Given the description of an element on the screen output the (x, y) to click on. 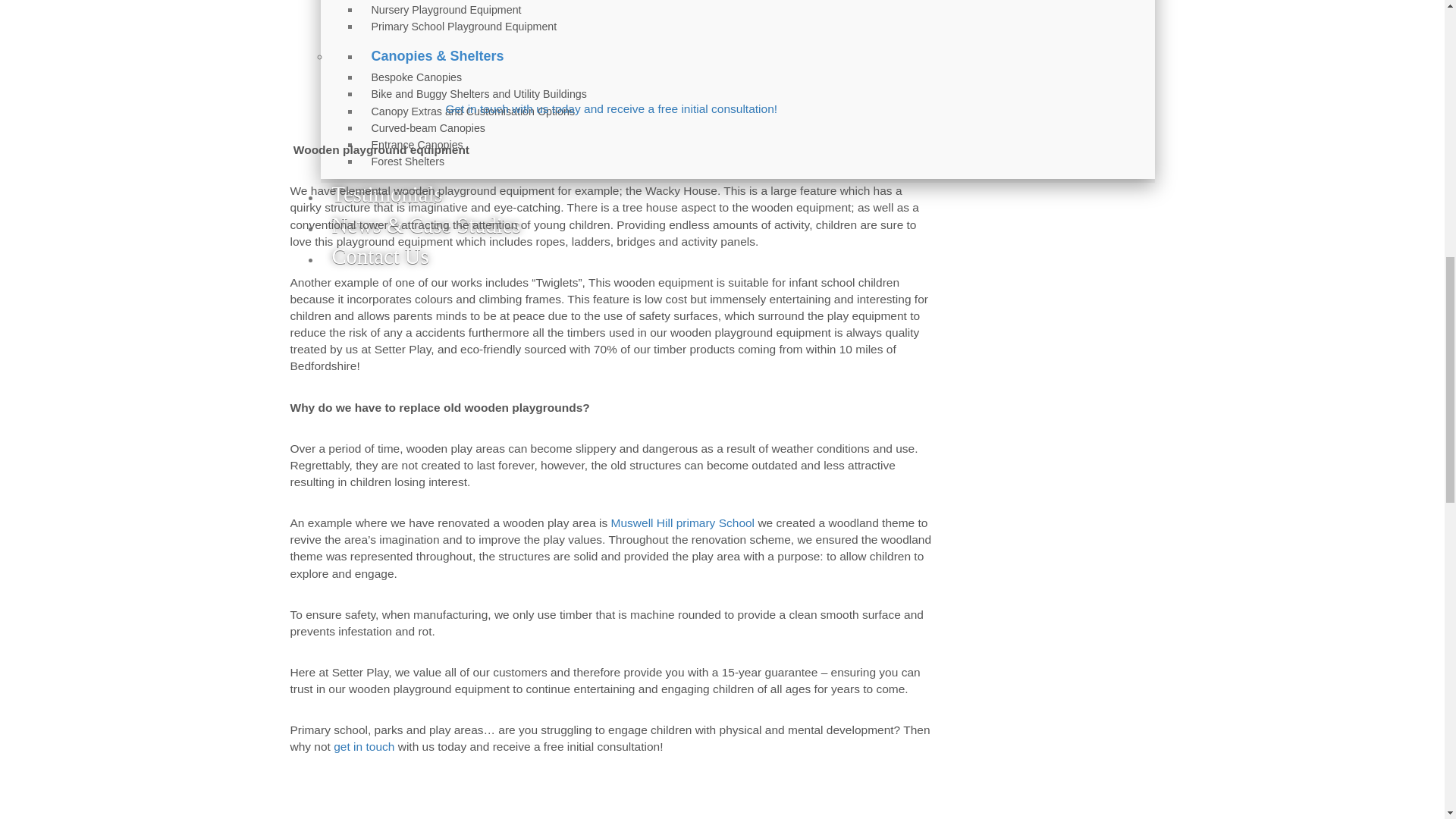
Entrance Canopies (416, 144)
Nursery Playground Equipment (445, 9)
Bike and Buggy Shelters and Utility Buildings (477, 93)
Contact Us (374, 256)
Forest Shelters (407, 160)
Canopy Extras and Customisation Options (472, 110)
Testimonials (386, 194)
Bespoke Canopies (416, 76)
Primary School Playground Equipment (463, 26)
